Given the description of an element on the screen output the (x, y) to click on. 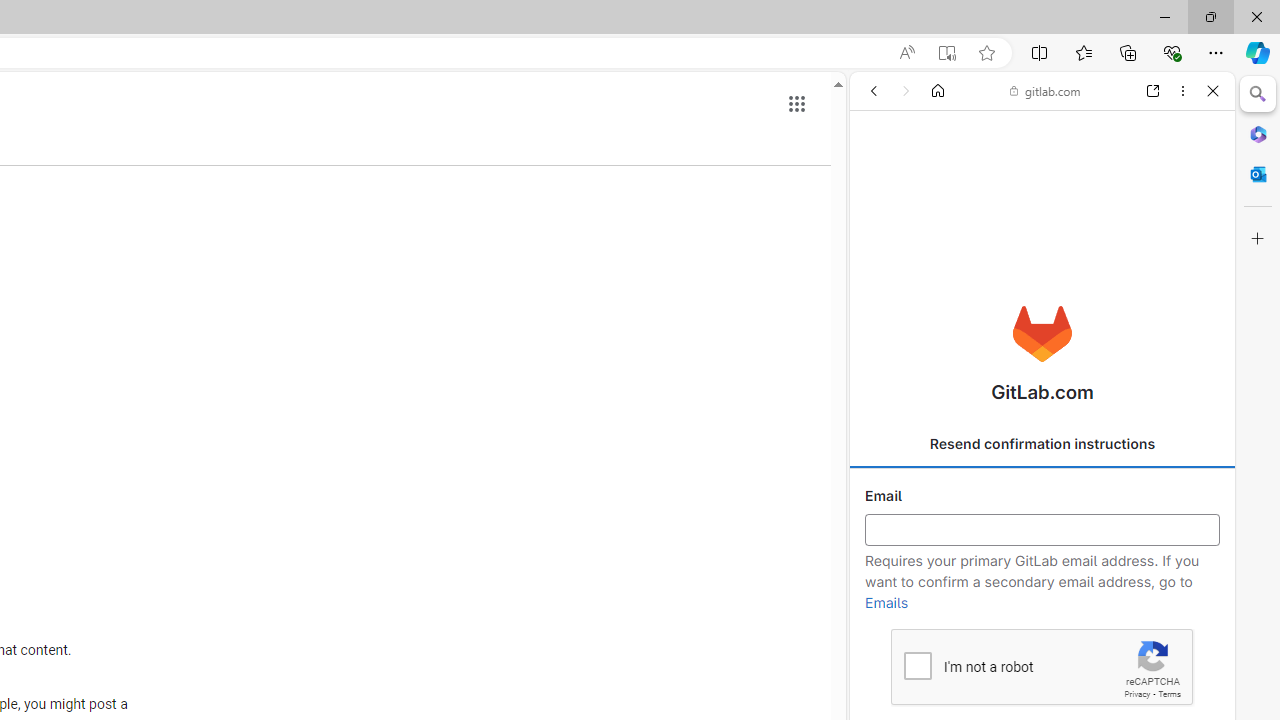
Dashboard (1042, 641)
GitLab.com (1042, 333)
Email (1042, 530)
GitLab (1034, 288)
Terms (1169, 694)
